Given the description of an element on the screen output the (x, y) to click on. 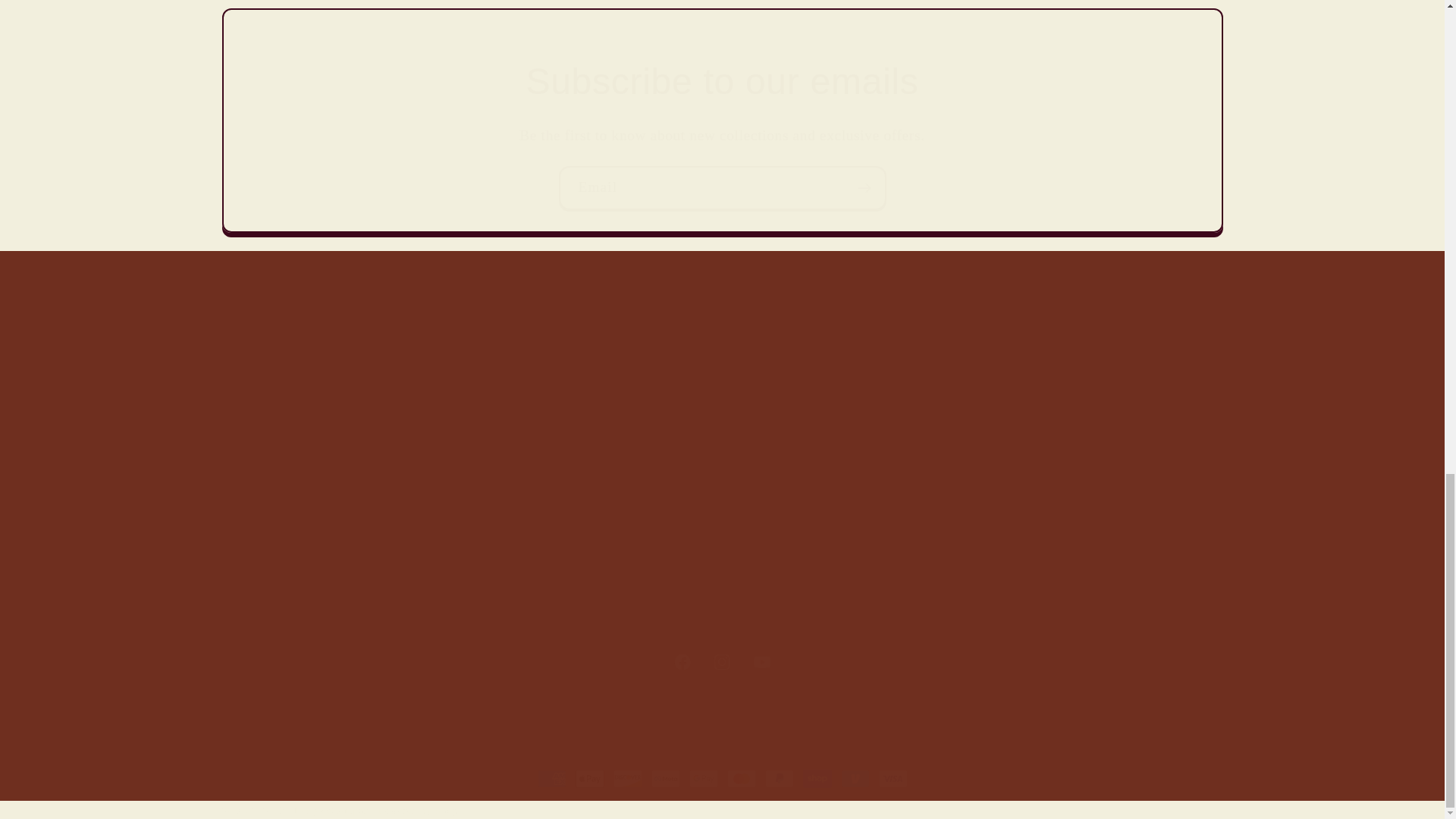
Email (721, 187)
Subscribe to our emails (722, 662)
